Given the description of an element on the screen output the (x, y) to click on. 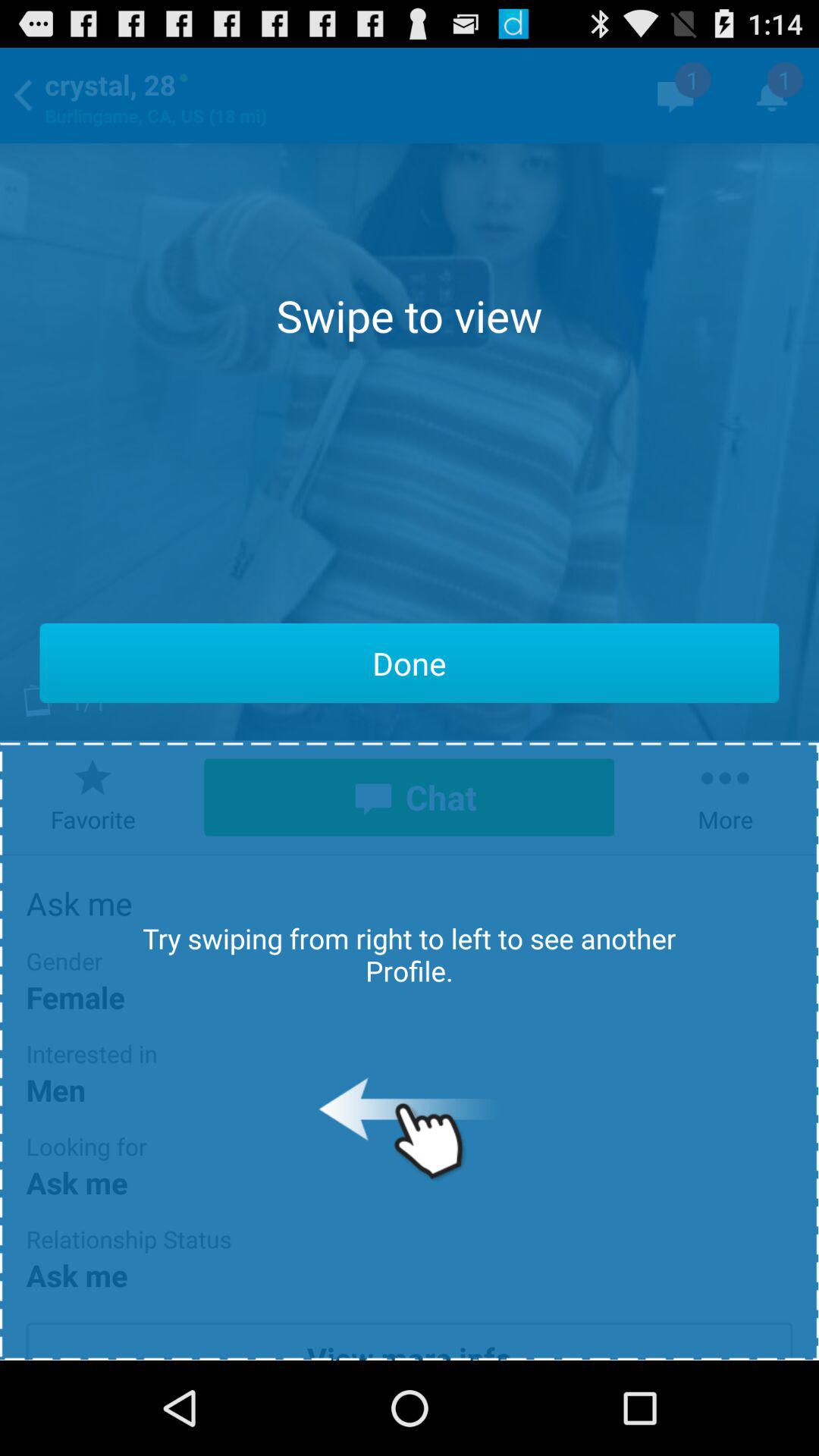
launch the app below the swipe to view item (409, 662)
